Given the description of an element on the screen output the (x, y) to click on. 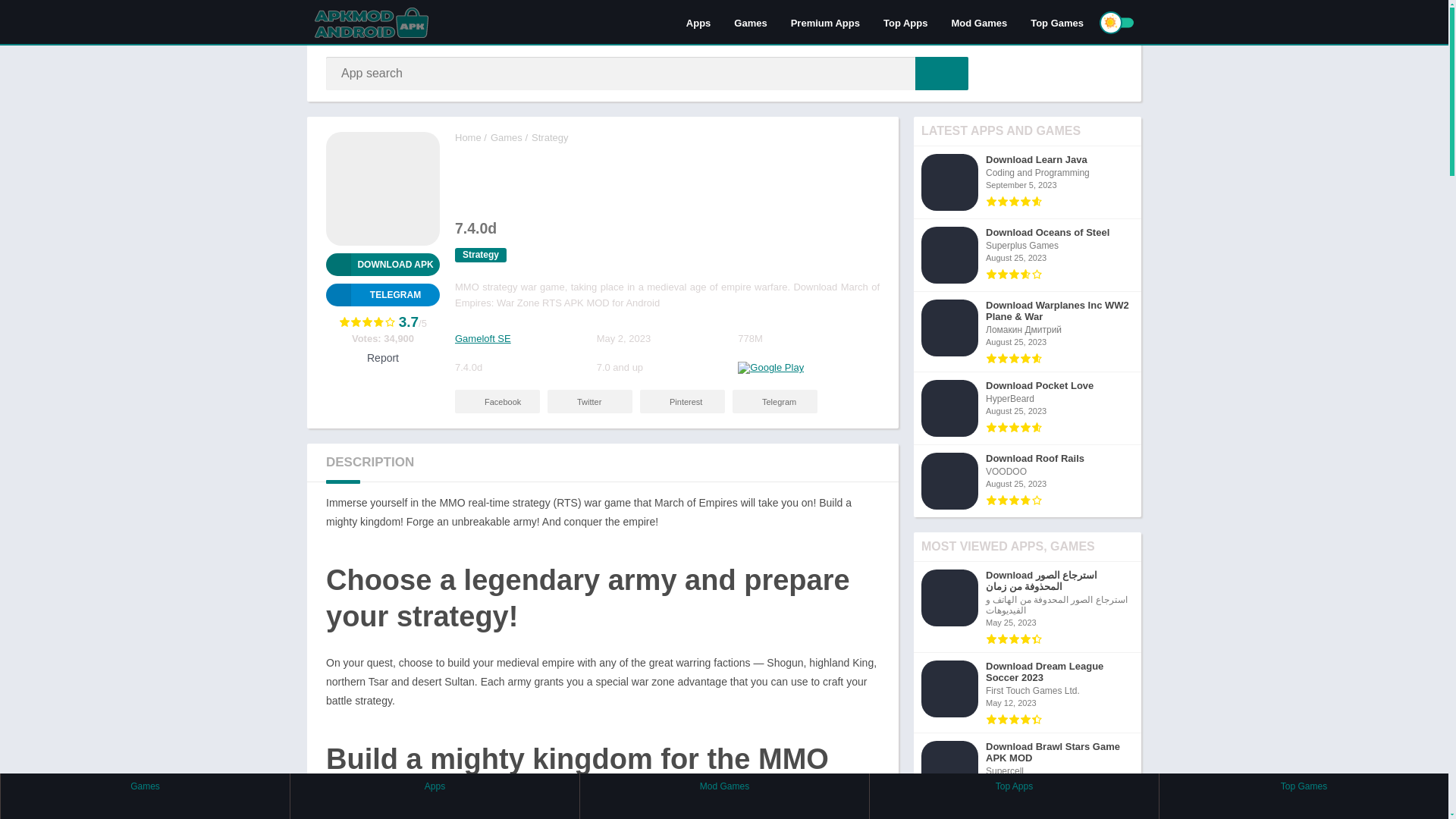
Strategy (549, 137)
Strategy (480, 255)
Mod Games (978, 22)
DOWNLOAD APK (382, 264)
Games (749, 22)
Apps (698, 22)
Download APK (382, 264)
TELEGRAM (382, 294)
Games (506, 137)
Twitter (589, 401)
